Given the description of an element on the screen output the (x, y) to click on. 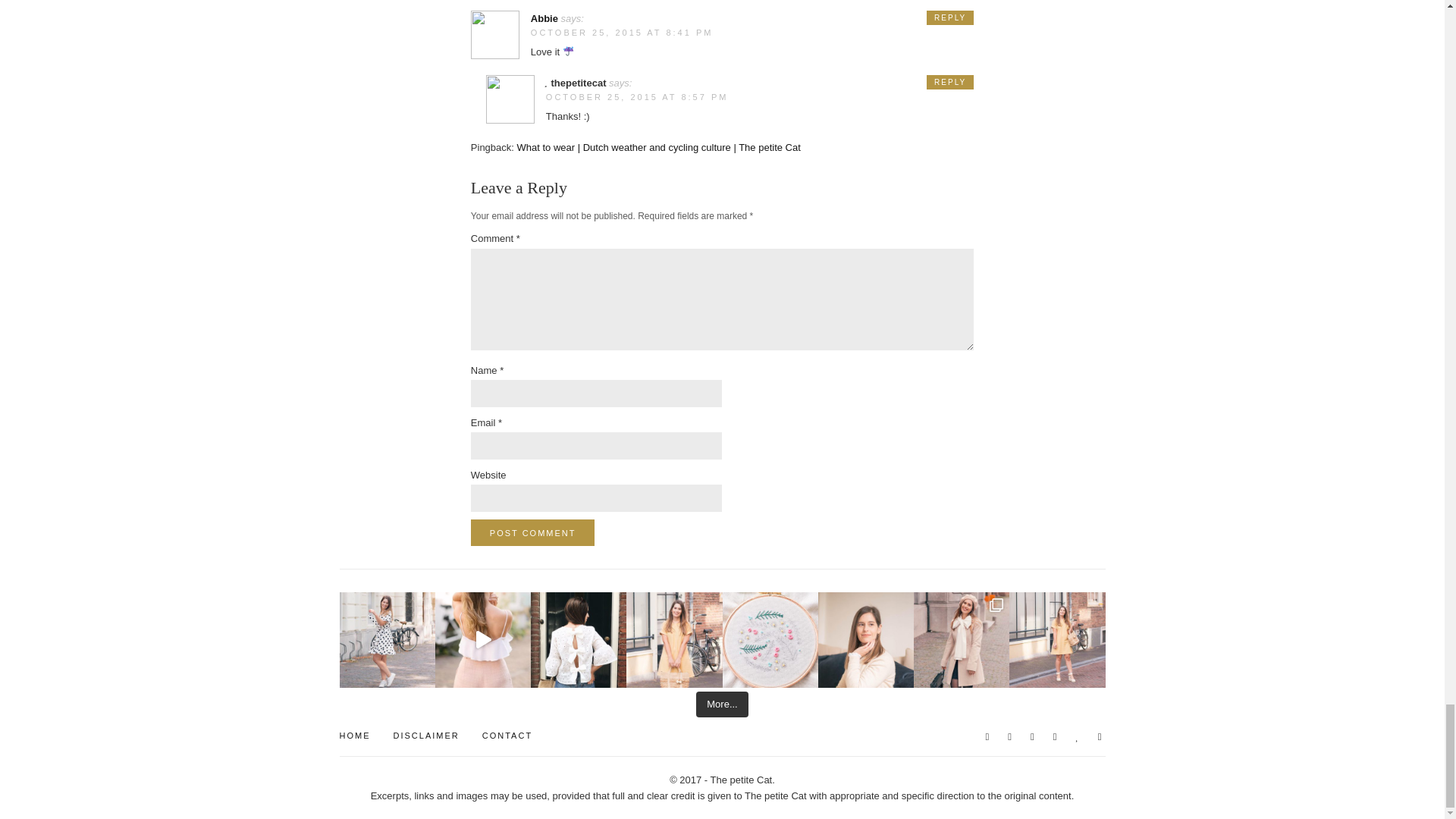
Post Comment (532, 532)
